Given the description of an element on the screen output the (x, y) to click on. 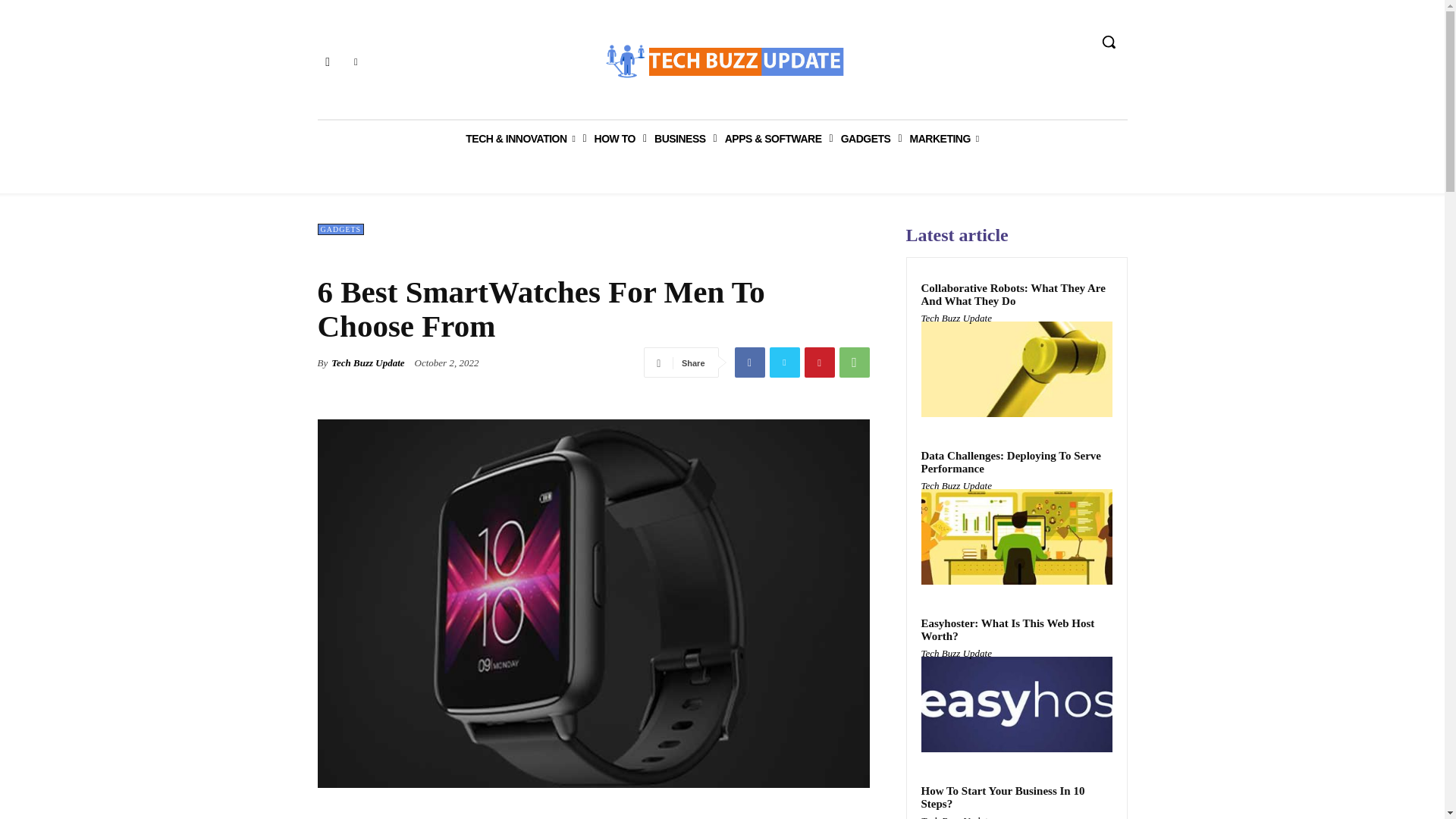
Facebook (748, 362)
Facebook (327, 61)
Twitter (356, 61)
